Given the description of an element on the screen output the (x, y) to click on. 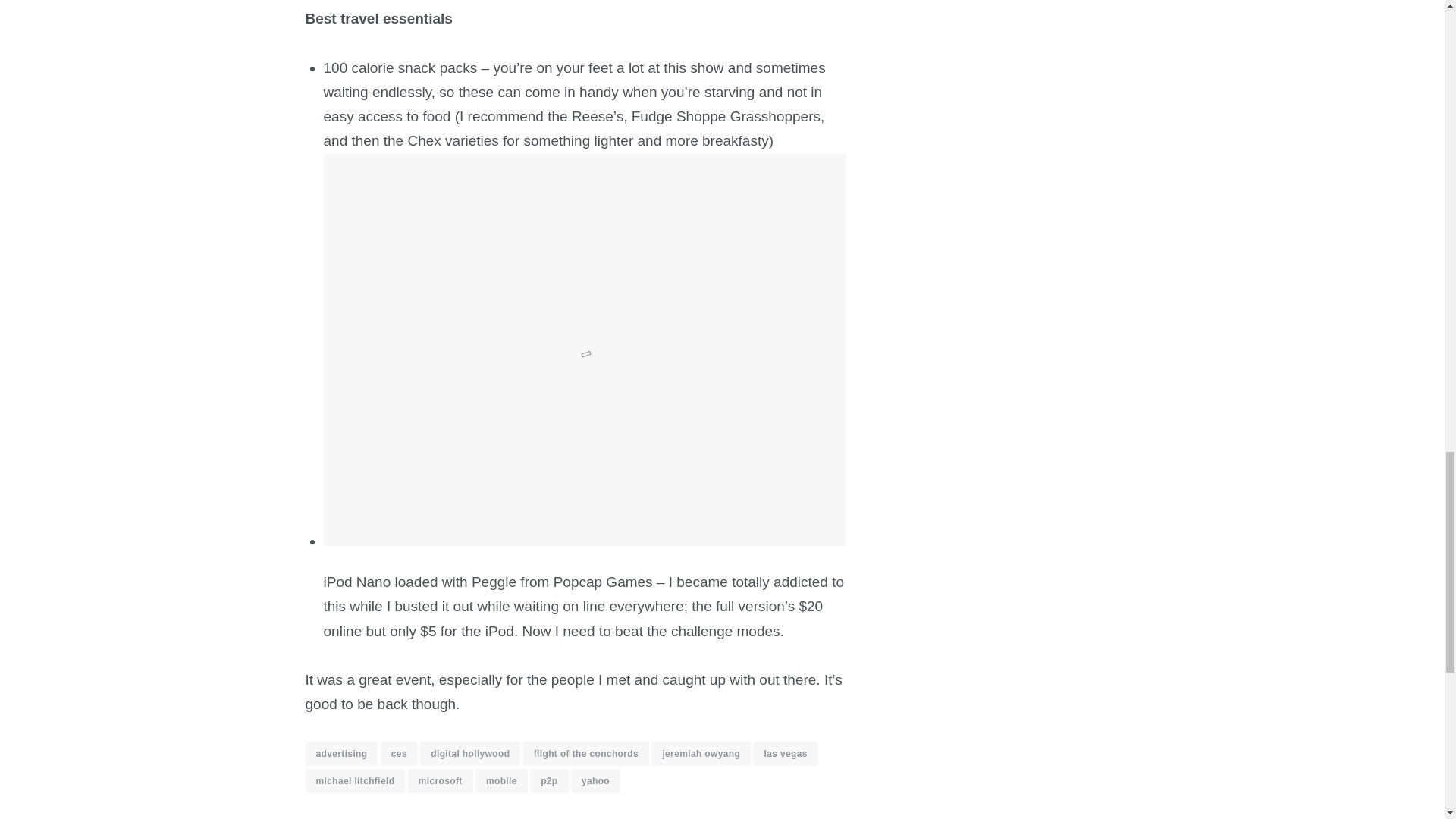
flight of the conchords (585, 753)
ces (398, 753)
advertising (340, 753)
Peggle from Popcap Games (561, 581)
digital hollywood (469, 753)
